Given the description of an element on the screen output the (x, y) to click on. 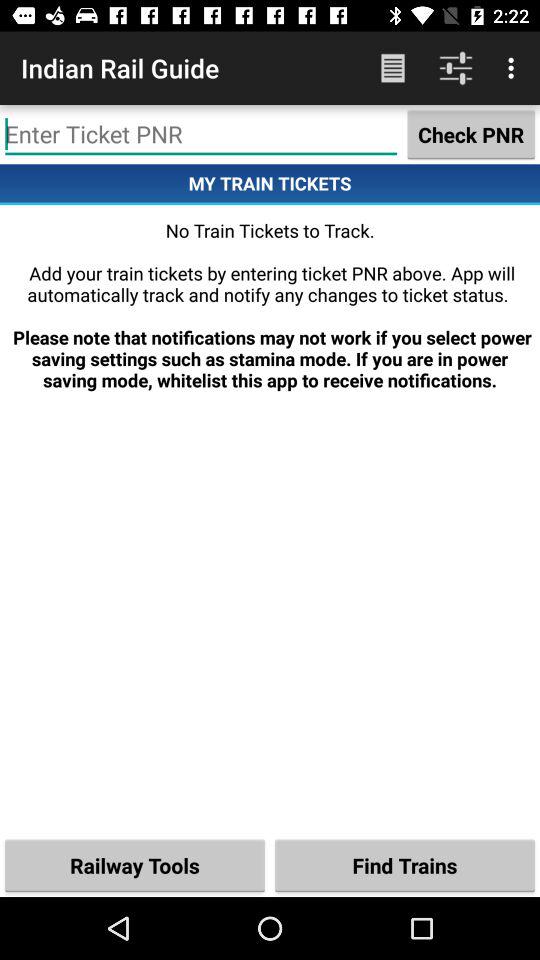
turn on item next to the check pnr item (201, 134)
